Given the description of an element on the screen output the (x, y) to click on. 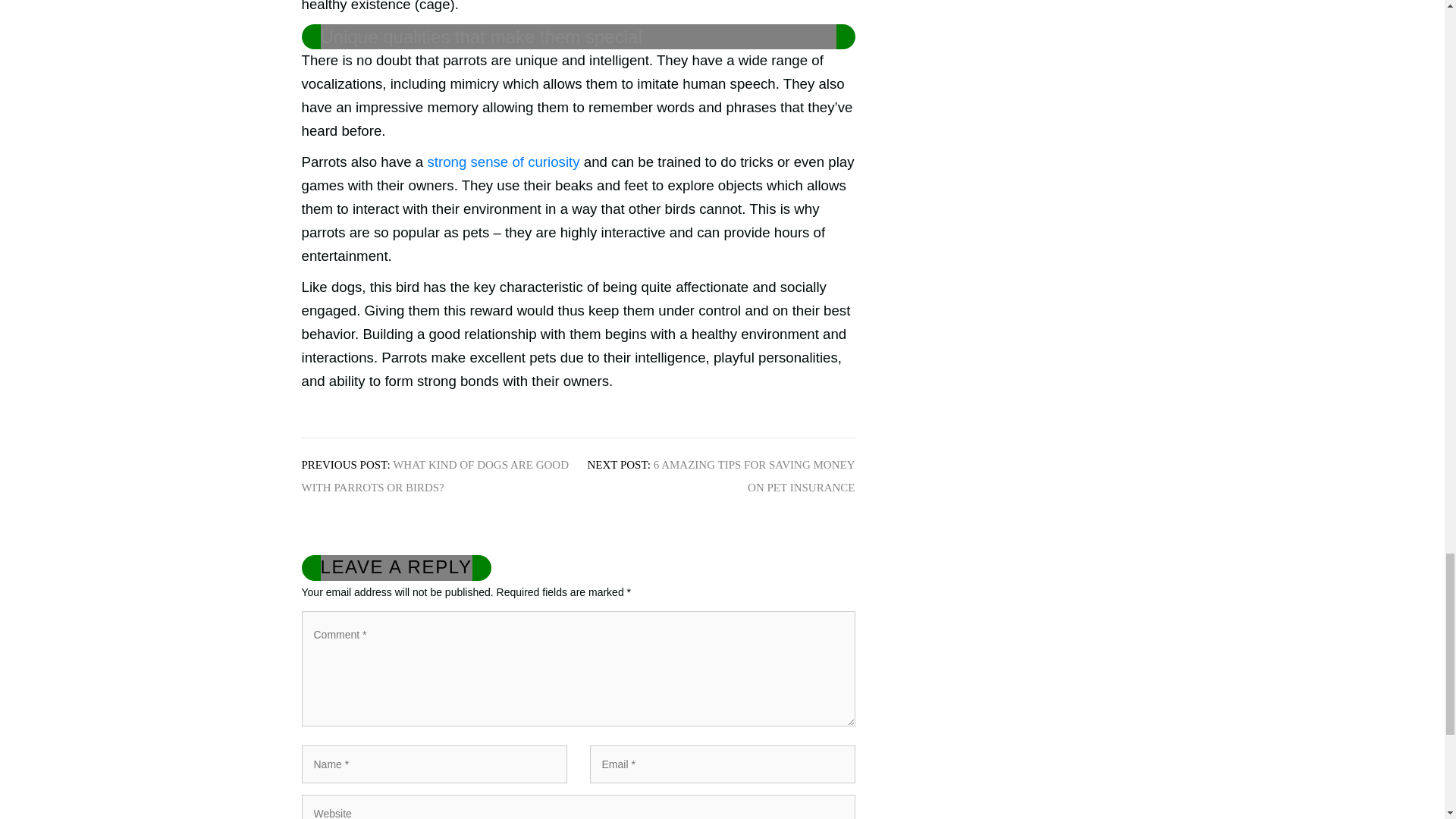
strong sense of curiosity (502, 161)
NEXT POST: 6 AMAZING TIPS FOR SAVING MONEY ON PET INSURANCE (720, 475)
